Given the description of an element on the screen output the (x, y) to click on. 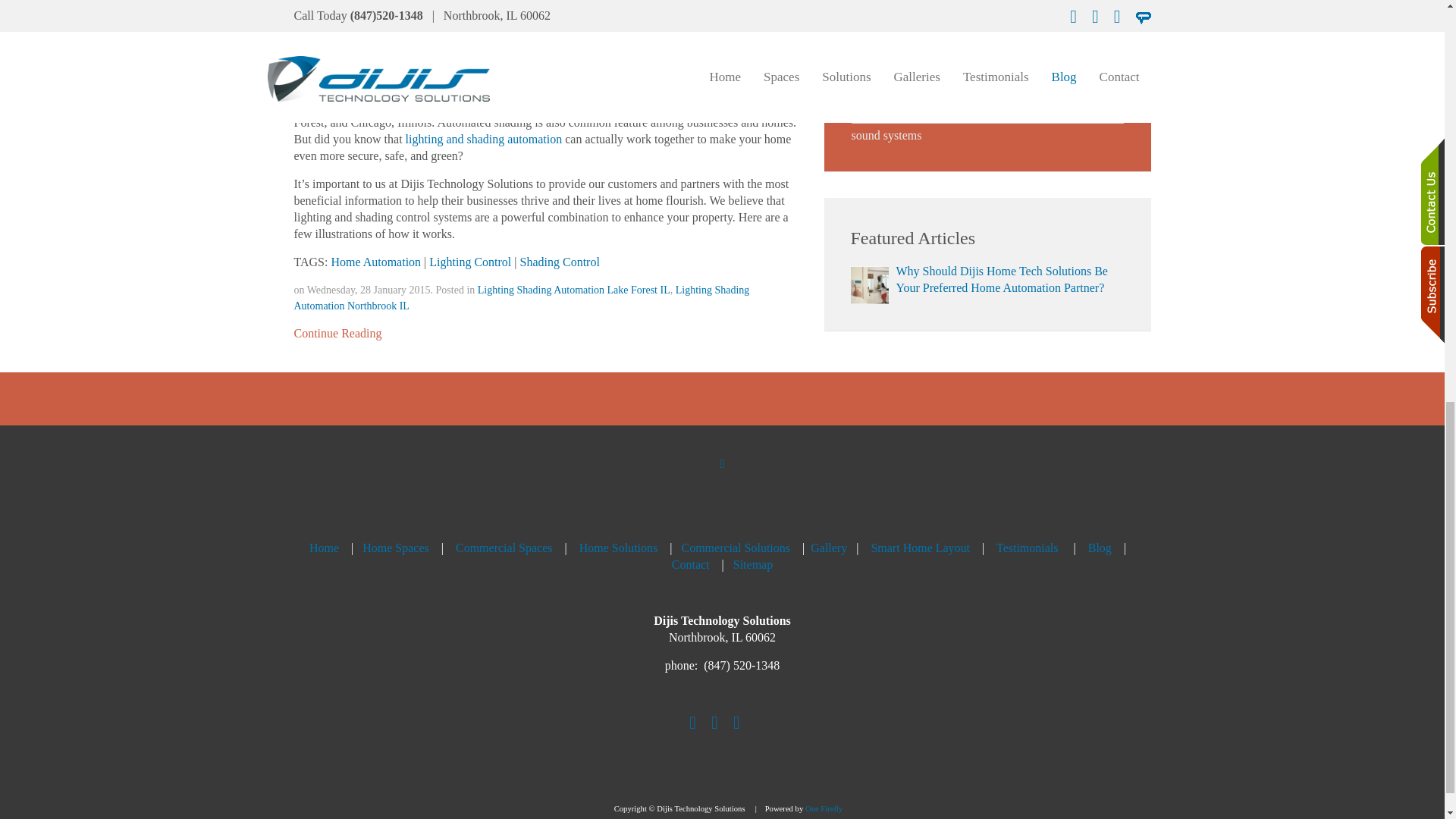
Lighting Control (470, 261)
Shading Control (559, 261)
Lighting Shading Automation Lake Forest IL (573, 289)
Home Automation (375, 261)
Continue Reading (337, 333)
Lighting Shading Automation Northbrook IL (521, 298)
lighting and shading automation (484, 138)
